Given the description of an element on the screen output the (x, y) to click on. 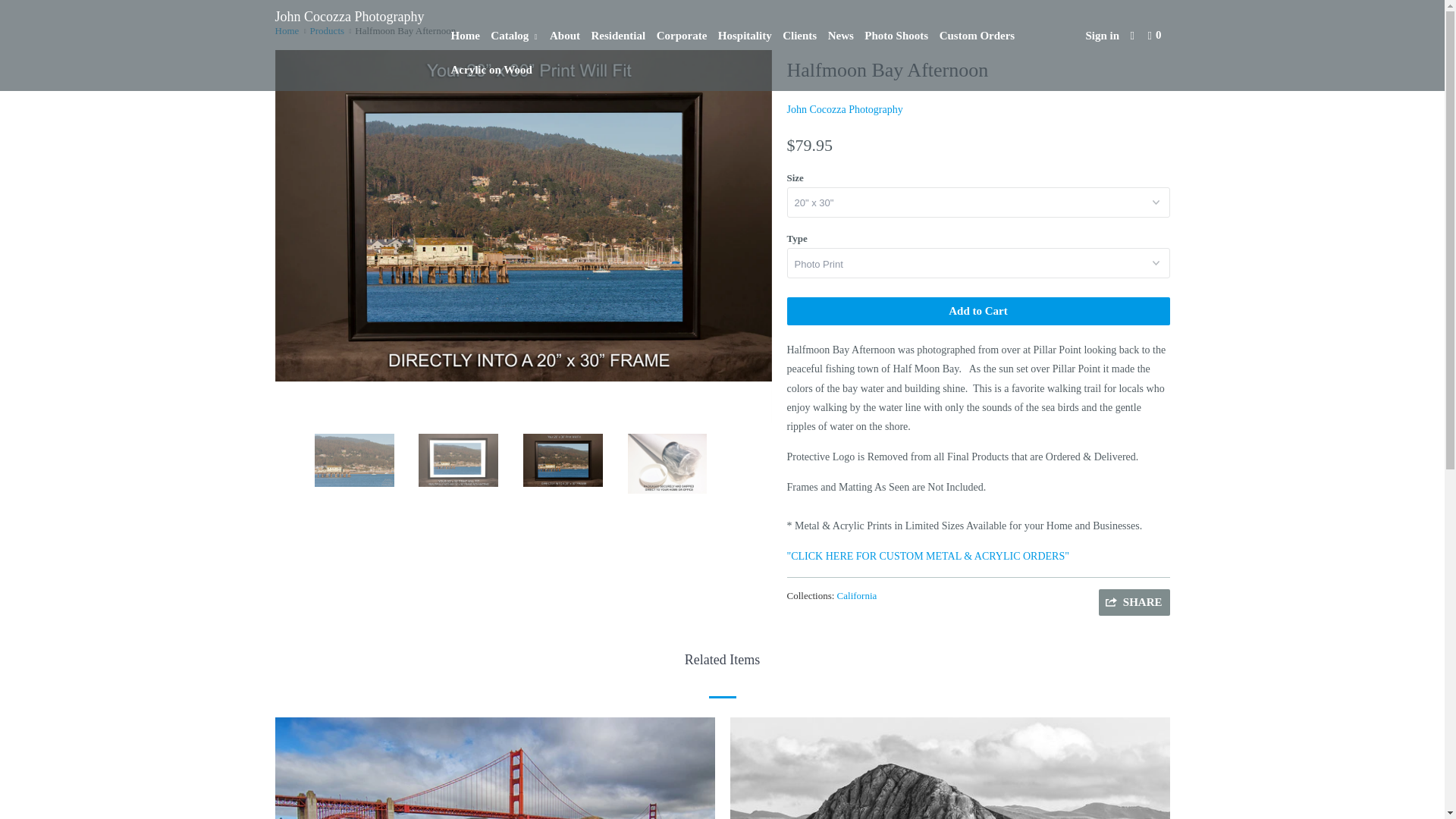
Catalog   (514, 35)
Sign in (1101, 35)
California (857, 595)
John Cocozza Photography (844, 109)
John Cocozza Photography (352, 17)
John Cocozza Photography (286, 30)
Products (327, 30)
My Account  (1101, 35)
Home (463, 35)
John Cocozza Photography (352, 17)
